Given the description of an element on the screen output the (x, y) to click on. 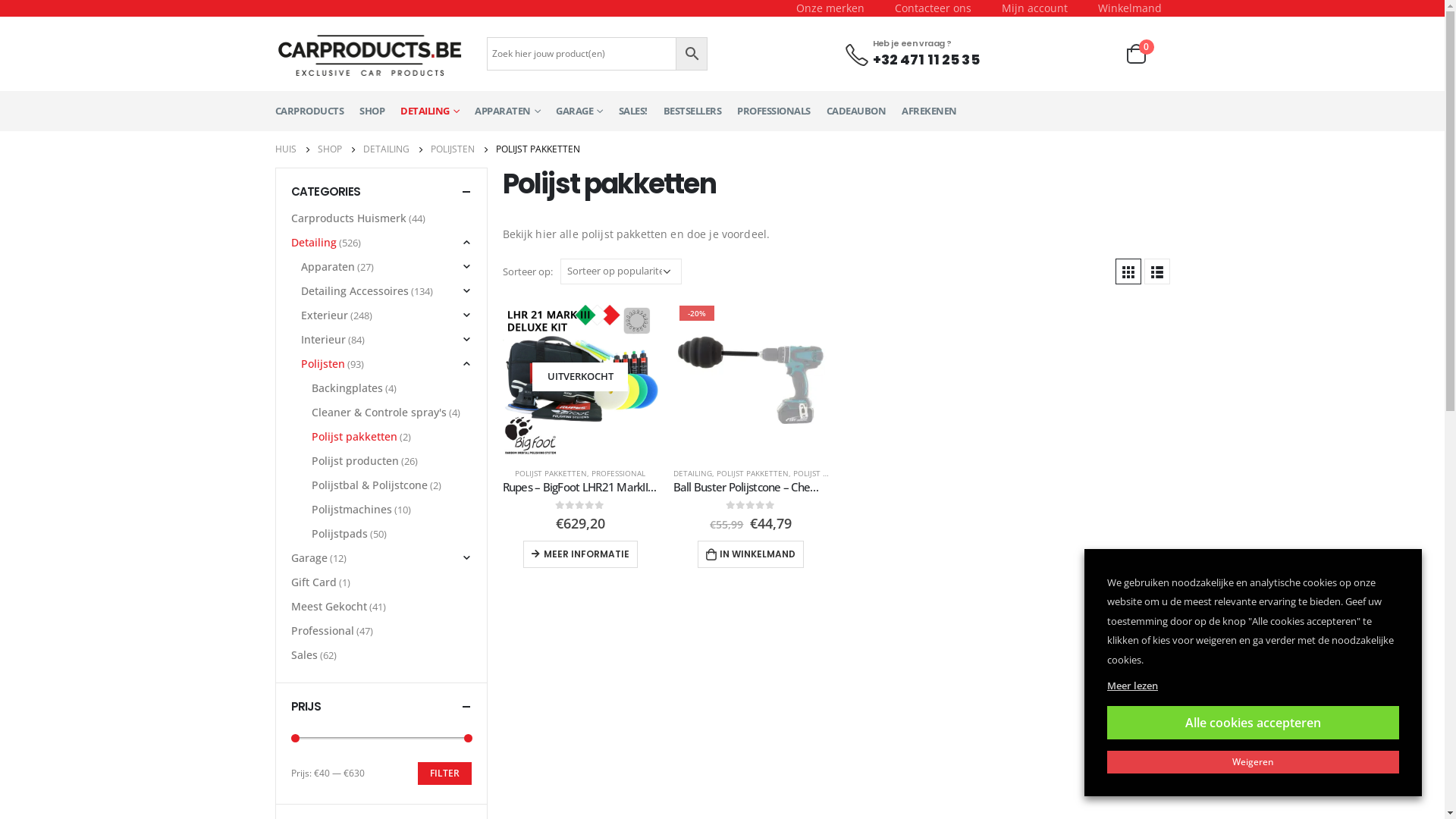
BESTSELLERS Element type: text (691, 110)
Polijst pakketten Element type: text (354, 436)
Polijstpads Element type: text (339, 533)
Rasterweergave Element type: hover (1127, 271)
SHOP Element type: text (328, 149)
Onze merken Element type: text (830, 7)
PROFESSIONALS Element type: text (773, 110)
Polijstmachines Element type: text (351, 509)
Exterieur Element type: text (324, 315)
GARAGE Element type: text (578, 110)
Gift Card Element type: text (313, 582)
Interieur Element type: text (323, 339)
Apparaten Element type: text (327, 266)
FILTER Element type: text (443, 773)
DETAILING Element type: text (429, 110)
DETAILING Element type: text (692, 472)
POLIJST PRODUCTEN Element type: text (830, 472)
Garage Element type: text (309, 558)
UITVERKOCHT Element type: text (579, 377)
Polijsten Element type: text (323, 363)
AFREKENEN Element type: text (929, 110)
Detailing Accessoires Element type: text (354, 291)
MEER INFORMATIE Element type: text (580, 553)
Mijn account Element type: text (1033, 7)
Polijstbal & Polijstcone Element type: text (369, 485)
SALES! Element type: text (632, 110)
Cleaner & Controle spray's Element type: text (378, 412)
POLIJST PAKKETTEN Element type: text (751, 472)
APPARATEN Element type: text (506, 110)
-20% Element type: text (750, 377)
DETAILING Element type: text (385, 149)
Carproducts Huismerk Element type: text (348, 218)
Weigeren Element type: text (1253, 761)
PROFESSIONAL Element type: text (618, 472)
Alle cookies accepteren Element type: text (1253, 722)
Meer lezen Element type: text (1132, 685)
Contacteer ons Element type: text (932, 7)
Lijstweergave Element type: hover (1156, 271)
Detailing Element type: text (313, 242)
HUIS Element type: text (284, 149)
CARPRODUCTS Element type: text (308, 110)
CADEAUBON Element type: text (856, 110)
Backingplates Element type: text (346, 388)
POLIJSTEN Element type: text (452, 149)
Meest Gekocht Element type: text (329, 606)
SHOP Element type: text (371, 110)
POLIJST PAKKETTEN Element type: text (550, 472)
IN WINKELMAND Element type: text (750, 553)
Sales Element type: text (304, 655)
Polijst producten Element type: text (354, 460)
Winkelmand Element type: text (1129, 7)
Professional Element type: text (322, 630)
